Given the description of an element on the screen output the (x, y) to click on. 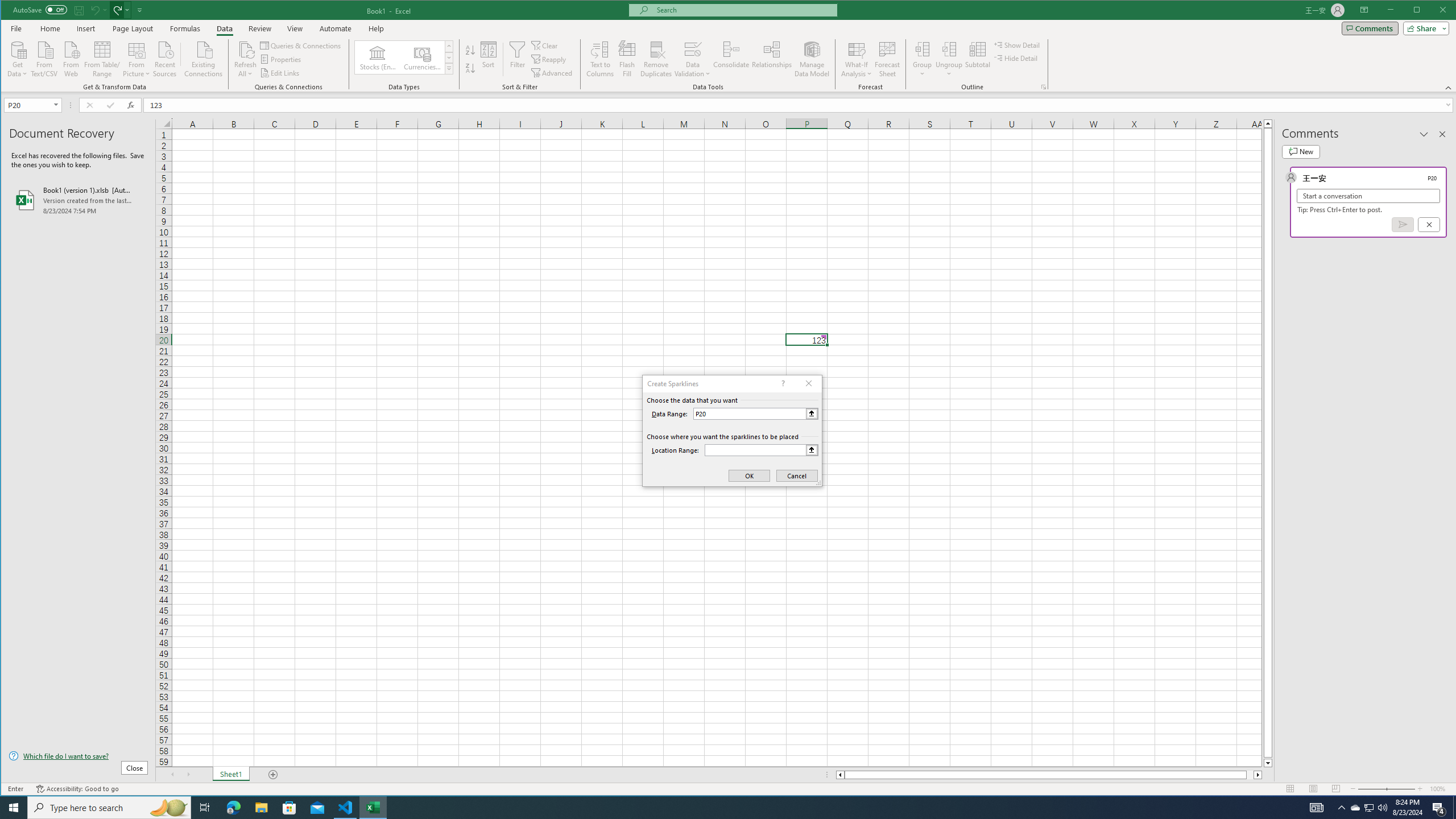
Text to Columns... (600, 59)
Subtotal (977, 59)
Row up (448, 46)
Advanced... (552, 72)
Forecast Sheet (887, 59)
Row Down (448, 57)
AutomationID: ConvertToLinkedEntity (403, 57)
Queries & Connections (301, 45)
